Given the description of an element on the screen output the (x, y) to click on. 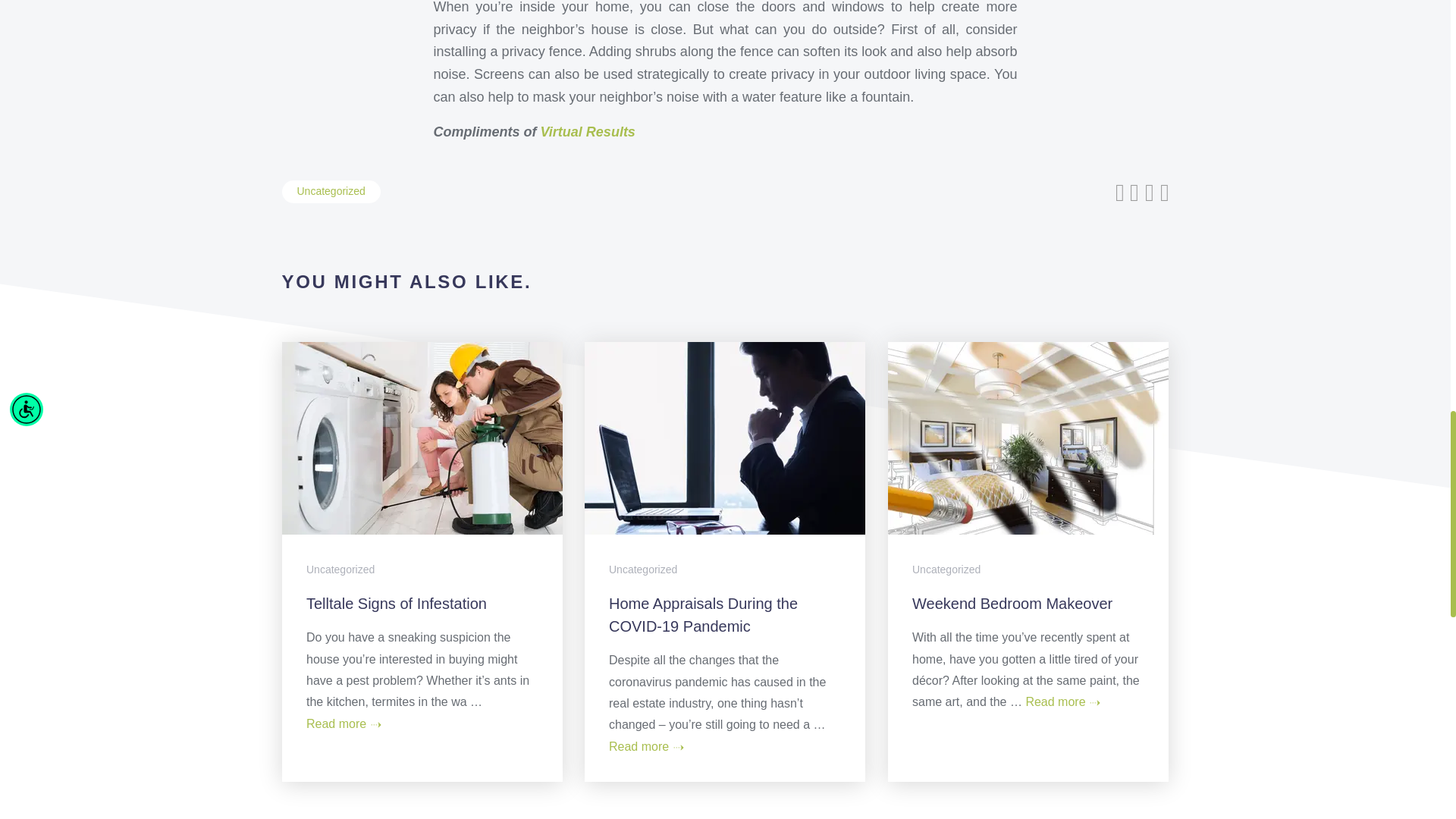
Uncategorized (331, 191)
Virtual Results (587, 131)
Uncategorized (339, 569)
